Given the description of an element on the screen output the (x, y) to click on. 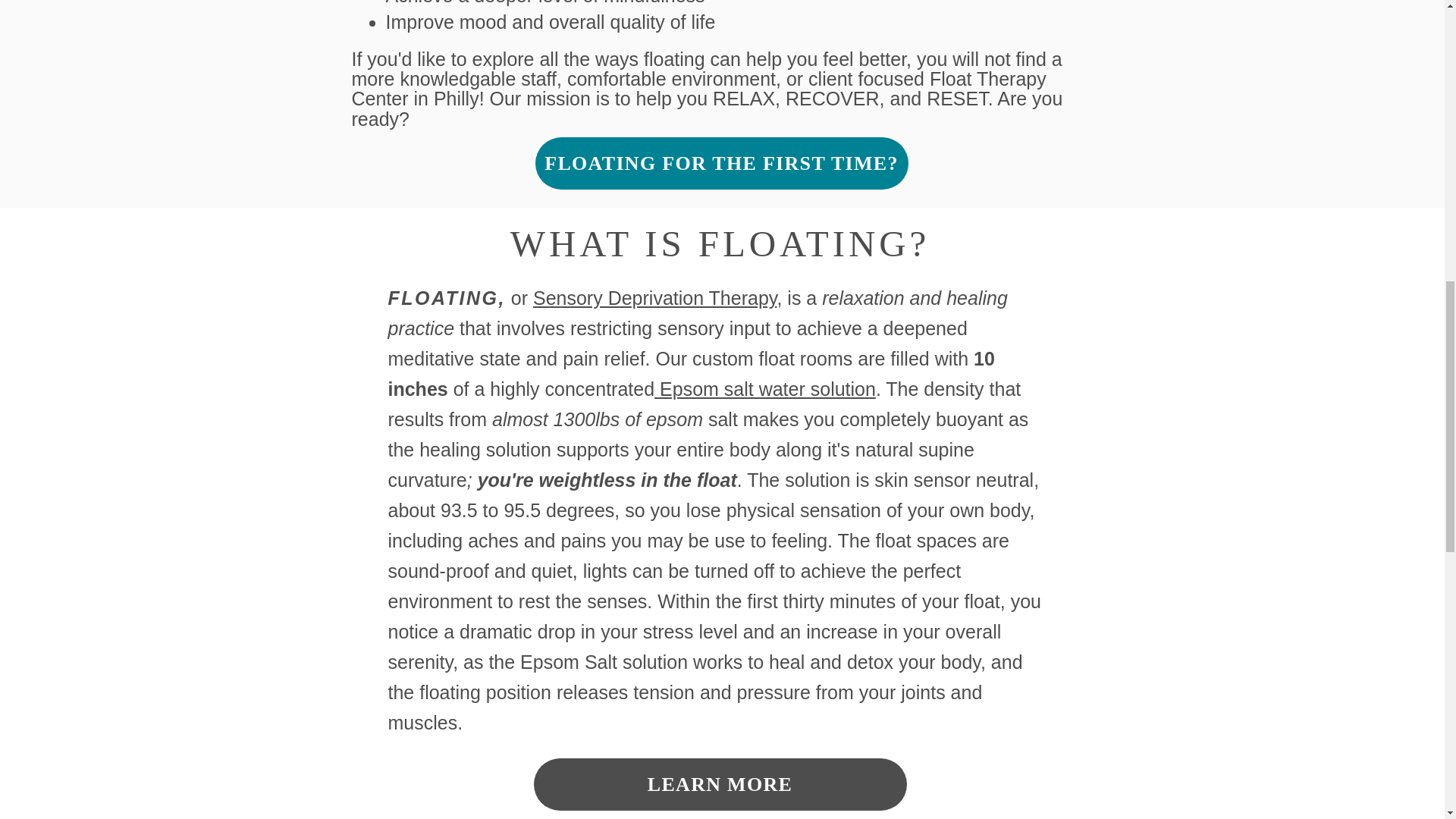
Sensory Deprivation Therapy (654, 297)
FLOATING FOR THE FIRST TIME? (721, 163)
Epsom salt water solution (764, 388)
LEARN MORE (720, 784)
